Given the description of an element on the screen output the (x, y) to click on. 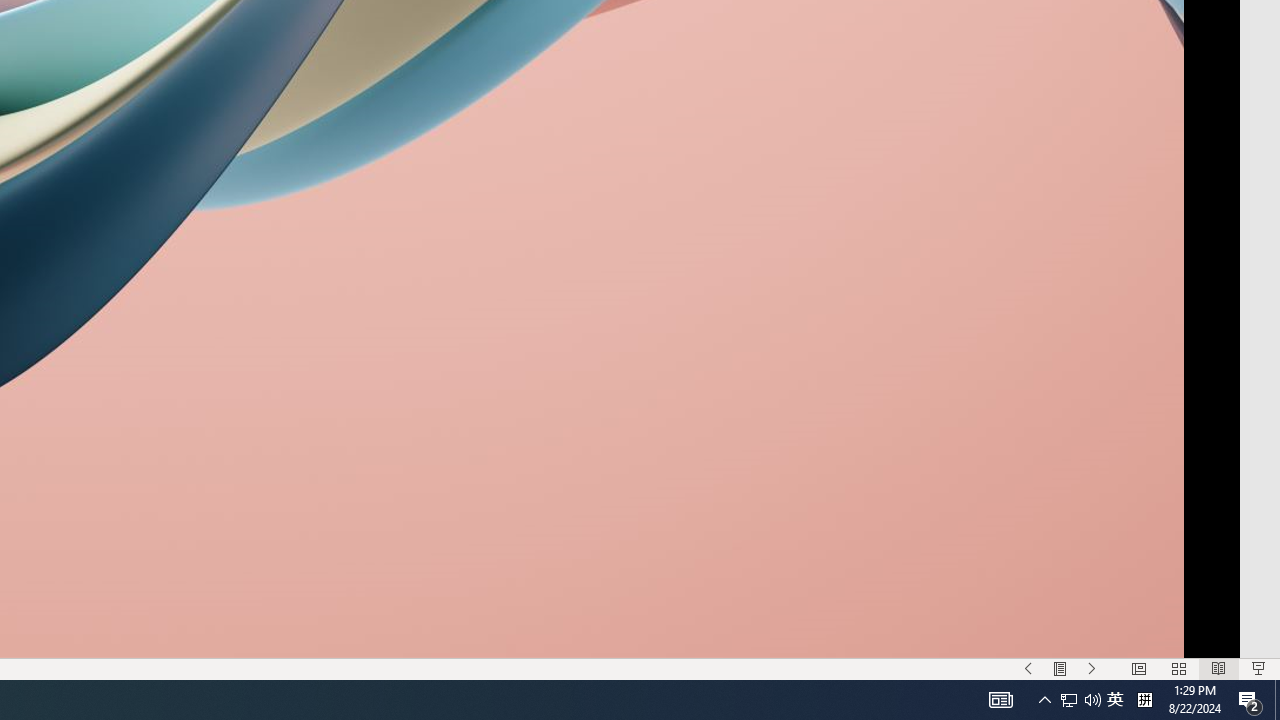
Menu On (1060, 668)
Slide Show Previous On (1028, 668)
Slide Show Next On (1092, 668)
